Given the description of an element on the screen output the (x, y) to click on. 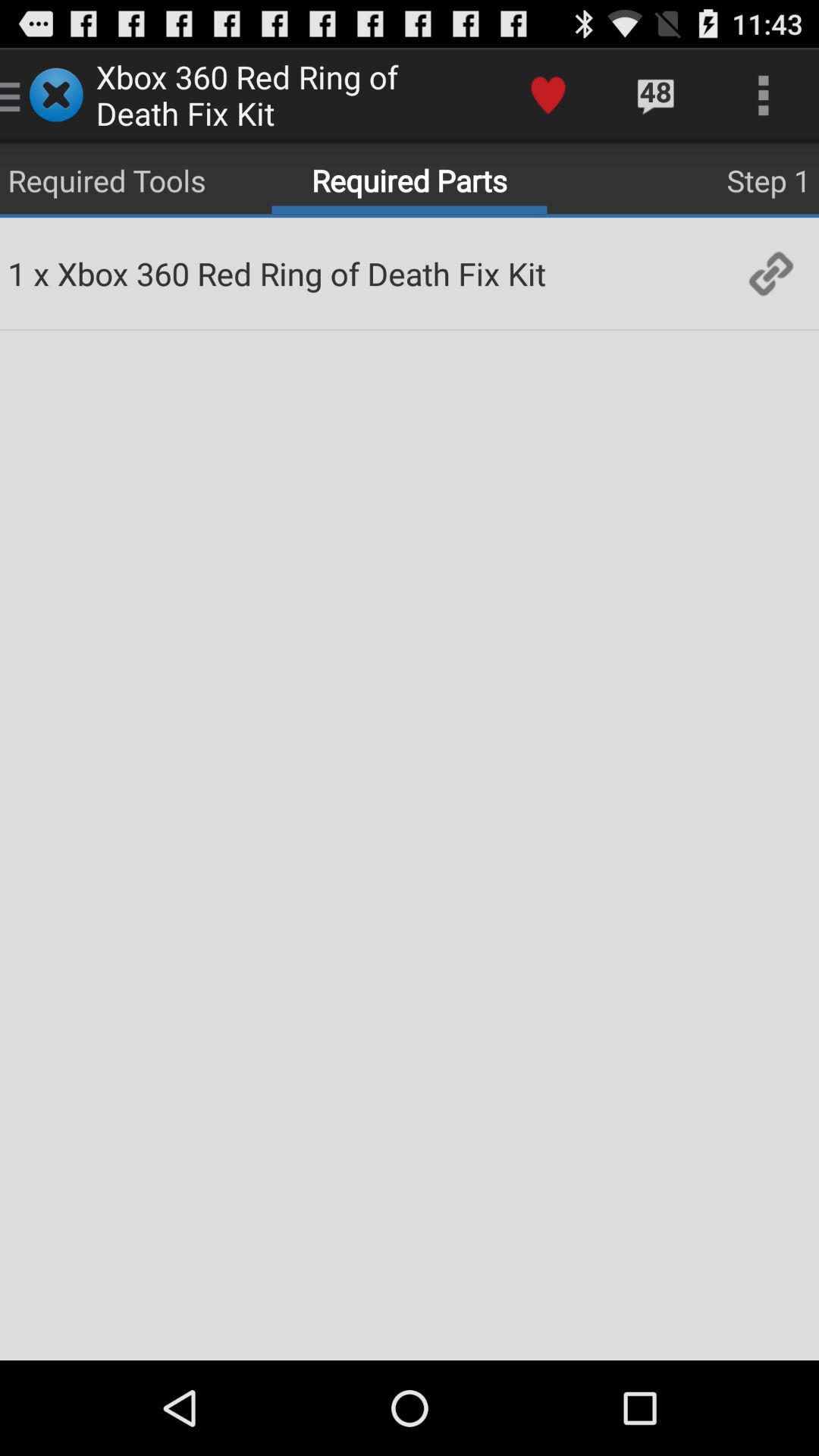
choose icon next to 1 icon (41, 273)
